Given the description of an element on the screen output the (x, y) to click on. 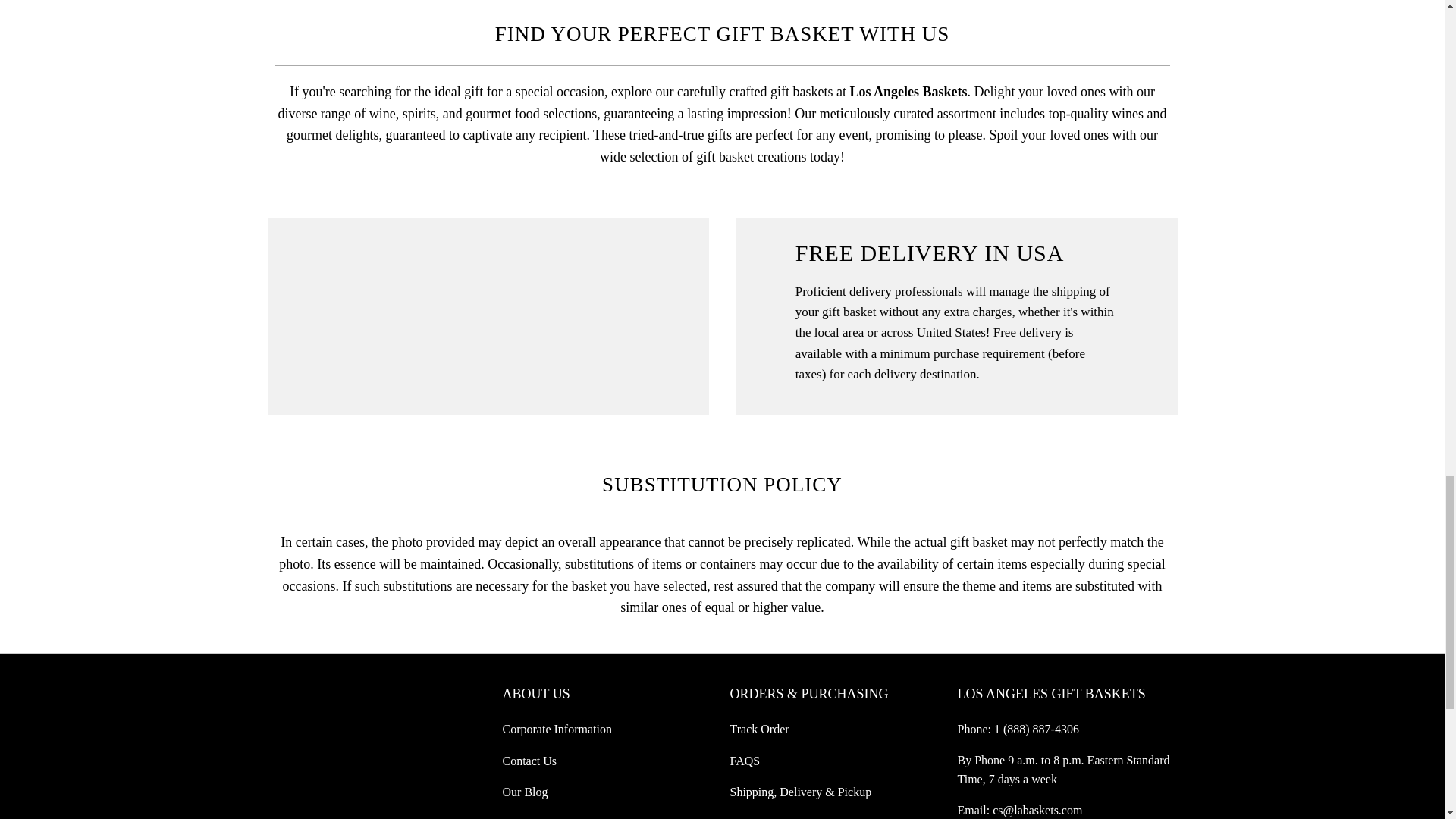
FREE DELIVERY IN USA (486, 227)
